Given the description of an element on the screen output the (x, y) to click on. 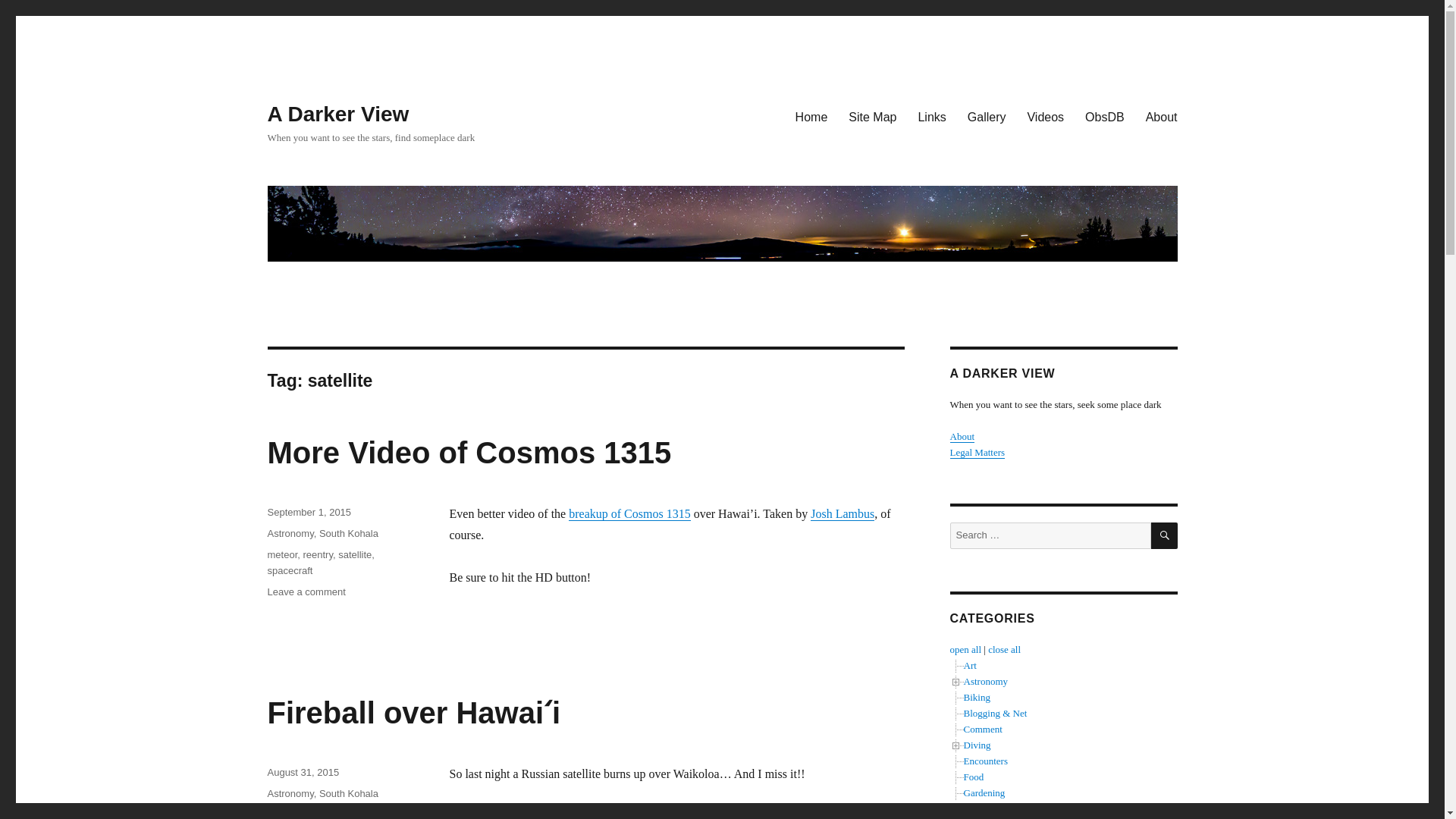
Home (811, 116)
More Video of Cosmos 1315 (468, 452)
reentry (317, 814)
August 31, 2015 (302, 772)
South Kohala (348, 532)
breakup of Cosmos 1315 (629, 513)
reentry (317, 554)
South Kohala (348, 793)
About (1161, 116)
September 1, 2015 (308, 511)
